Given the description of an element on the screen output the (x, y) to click on. 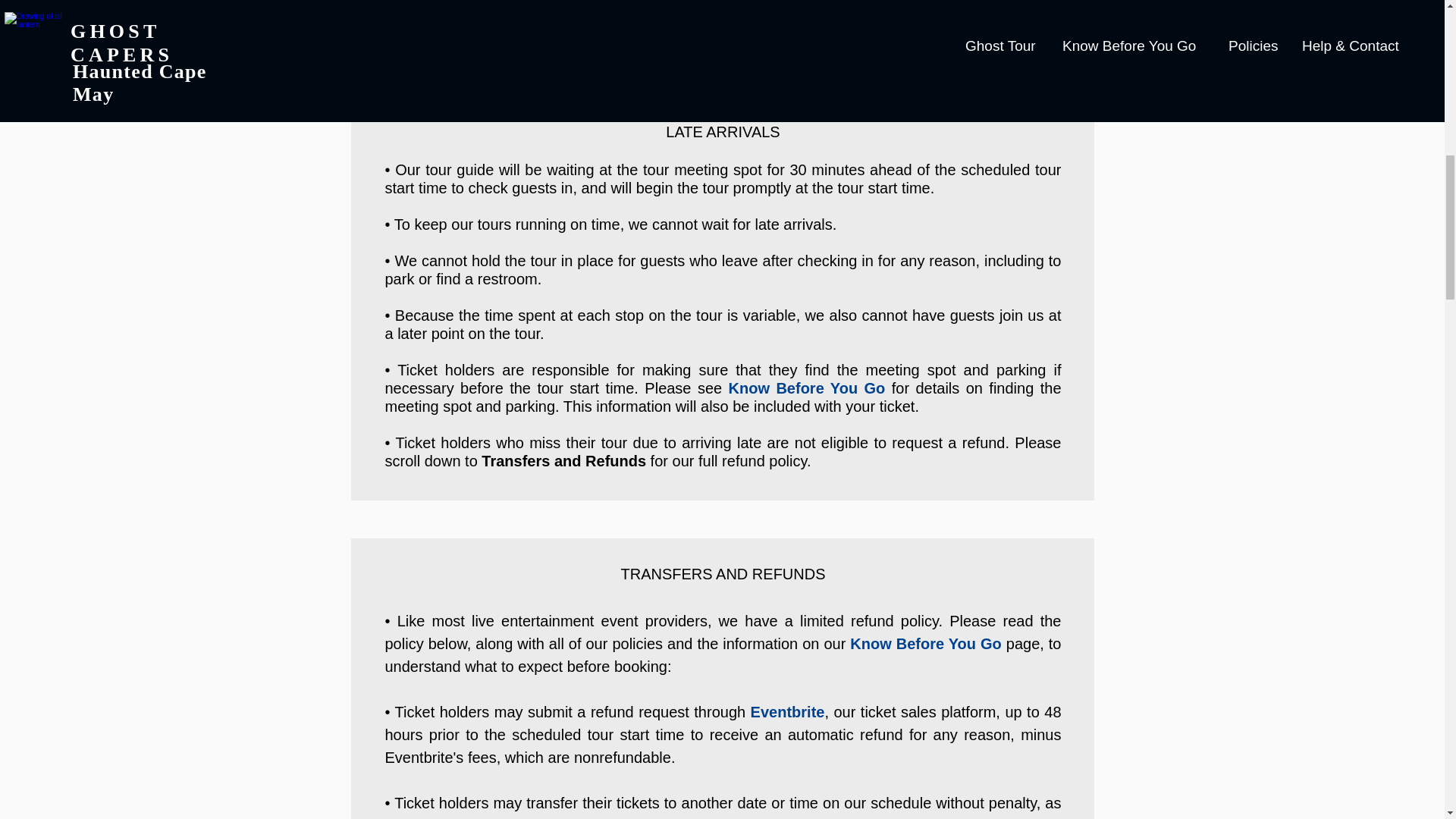
Eventbrite (788, 711)
Know Before You Go (807, 388)
Know Before You Go (925, 643)
